Given the description of an element on the screen output the (x, y) to click on. 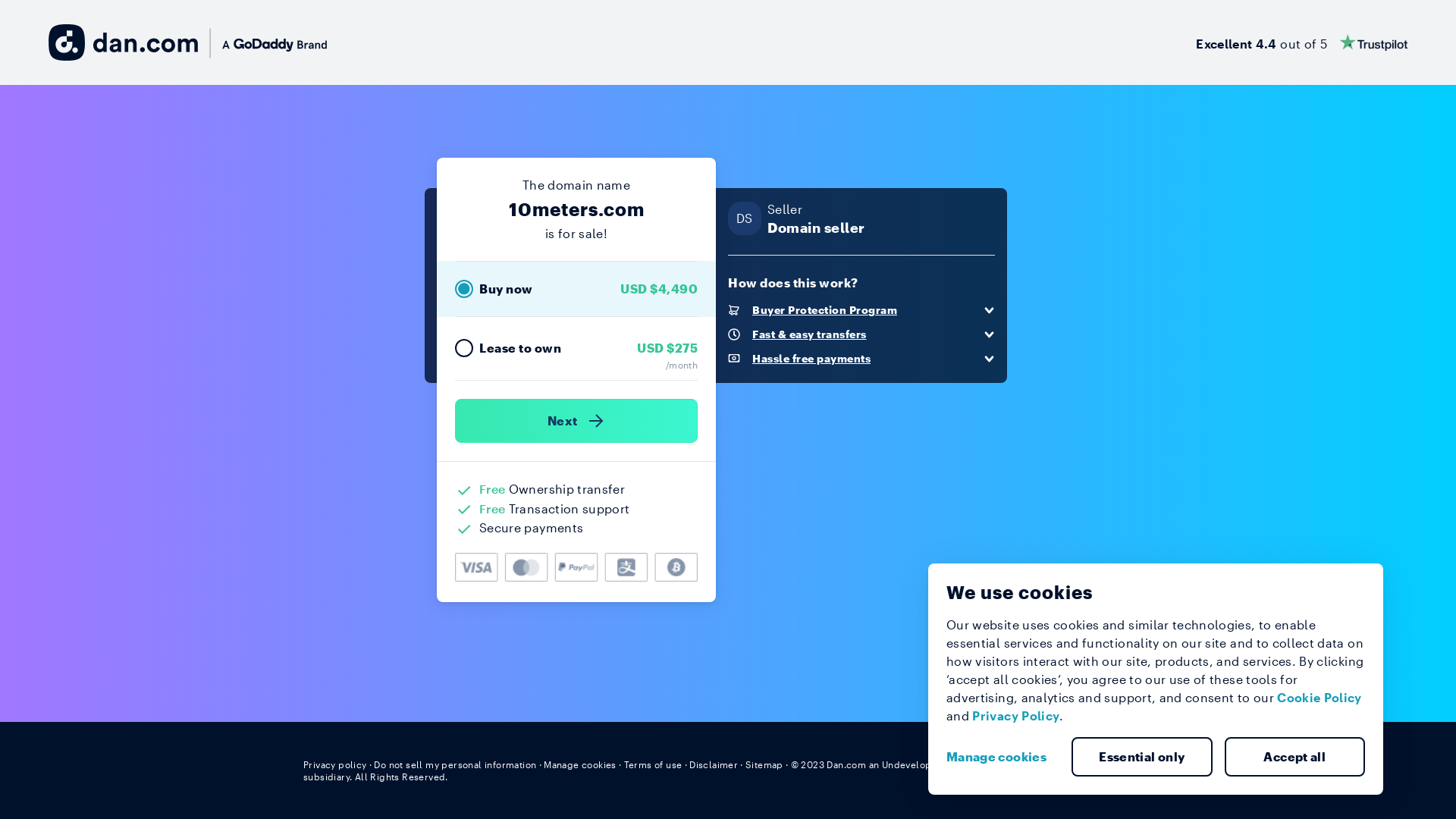
Privacy Policy Element type: text (1015, 715)
Disclaimer Element type: text (713, 764)
Manage cookies Element type: text (1002, 756)
Do not sell my personal information Element type: text (454, 764)
Terms of use Element type: text (653, 764)
English Element type: text (1124, 764)
Excellent 4.4 out of 5 Element type: text (1301, 42)
Next
) Element type: text (576, 420)
Manage cookies Element type: text (579, 764)
Privacy policy Element type: text (335, 764)
Accept all Element type: text (1294, 756)
Cookie Policy Element type: text (1319, 697)
Essential only Element type: text (1141, 756)
Sitemap Element type: text (764, 764)
